Given the description of an element on the screen output the (x, y) to click on. 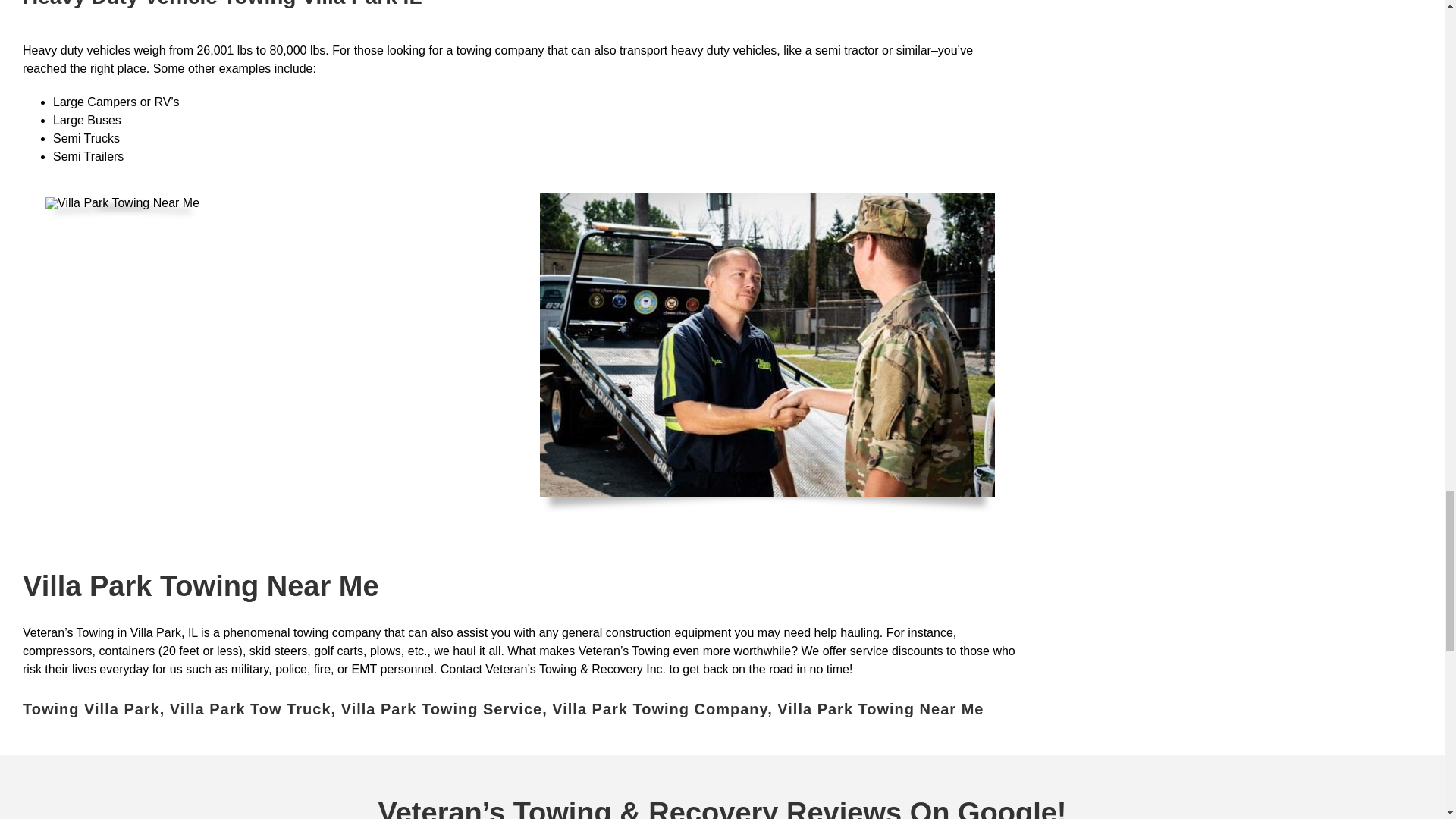
Villa Park Towing Near Me (122, 203)
